Given the description of an element on the screen output the (x, y) to click on. 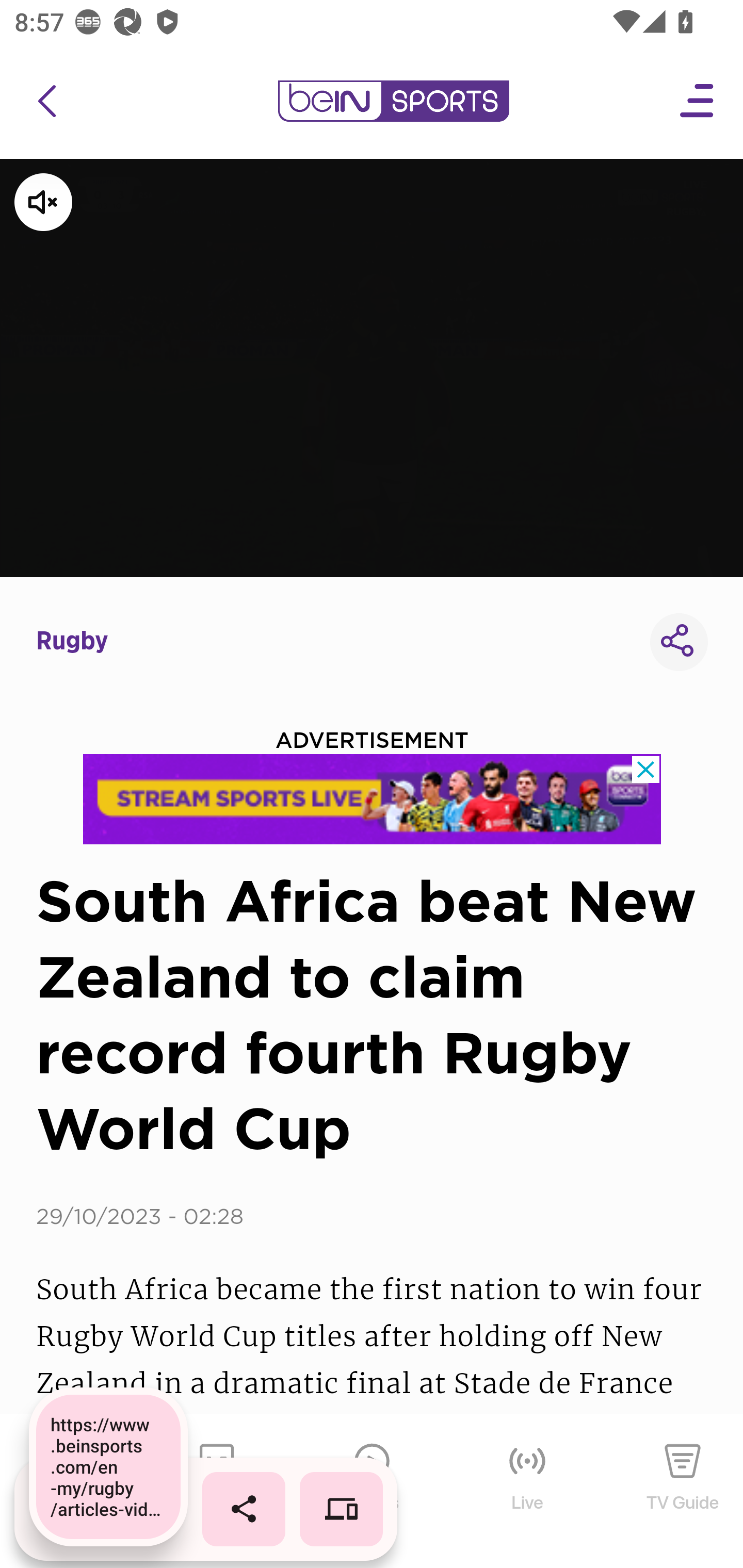
en-my?platform=mobile_android bein logo (392, 101)
icon back (46, 101)
Open Menu Icon (697, 101)
Unmute (371, 367)
Unmute (97, 202)
l8psv8uu (372, 799)
TV Guide TV Guide Icon TV Guide (682, 1491)
